Given the description of an element on the screen output the (x, y) to click on. 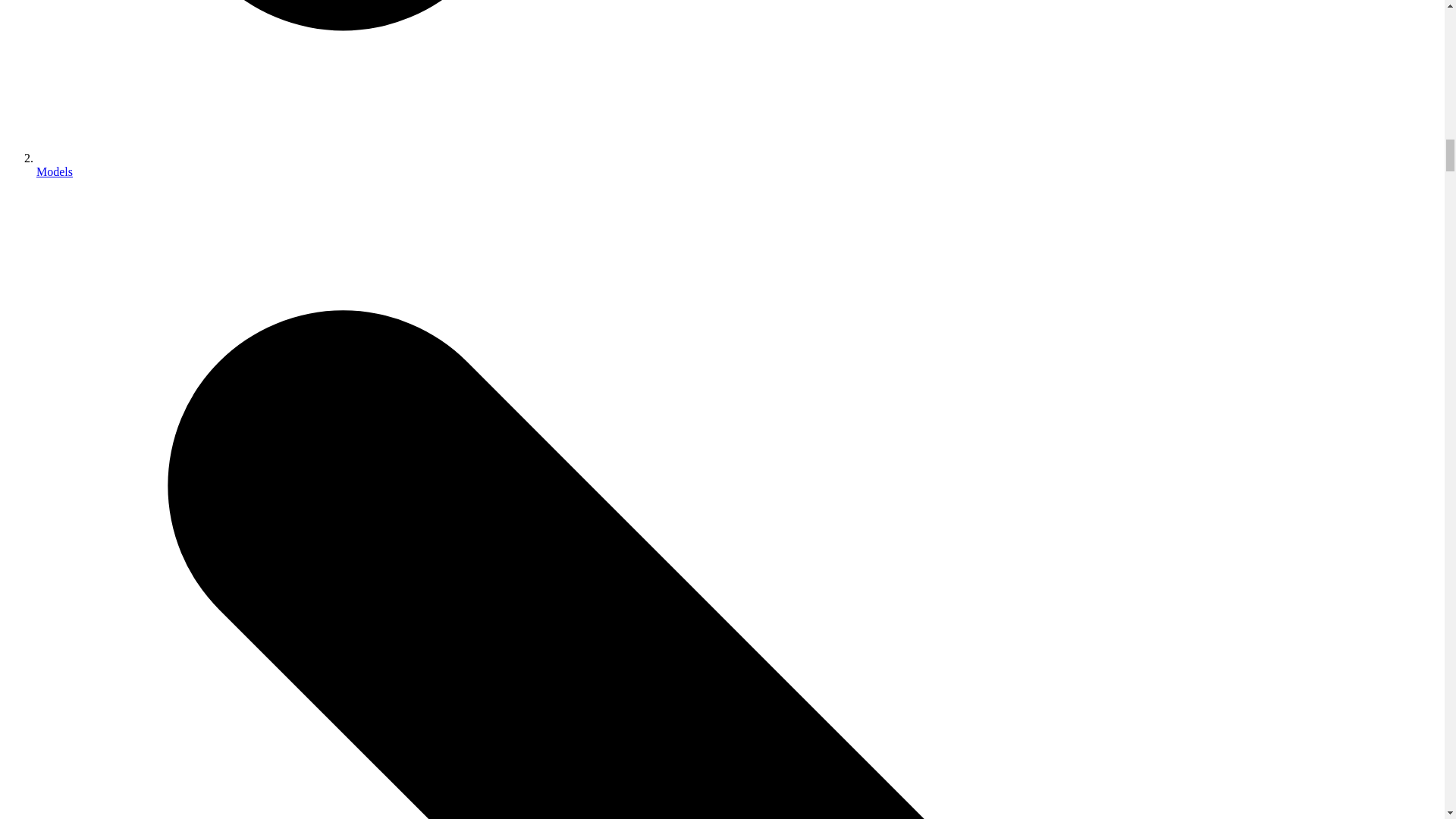
Models (54, 171)
